Given the description of an element on the screen output the (x, y) to click on. 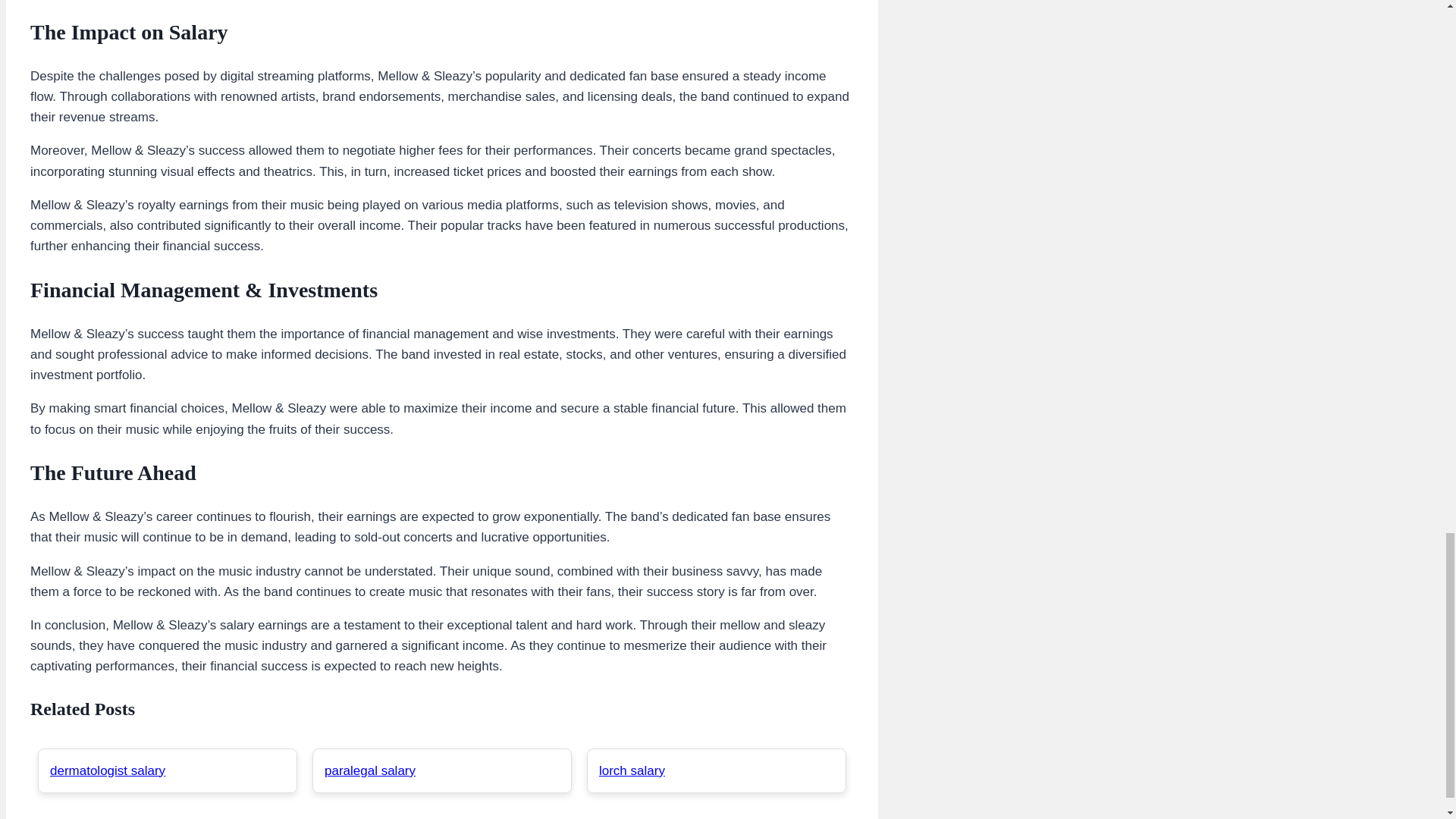
dermatologist salary (107, 770)
paralegal salary (369, 770)
lorch salary (631, 770)
